Given the description of an element on the screen output the (x, y) to click on. 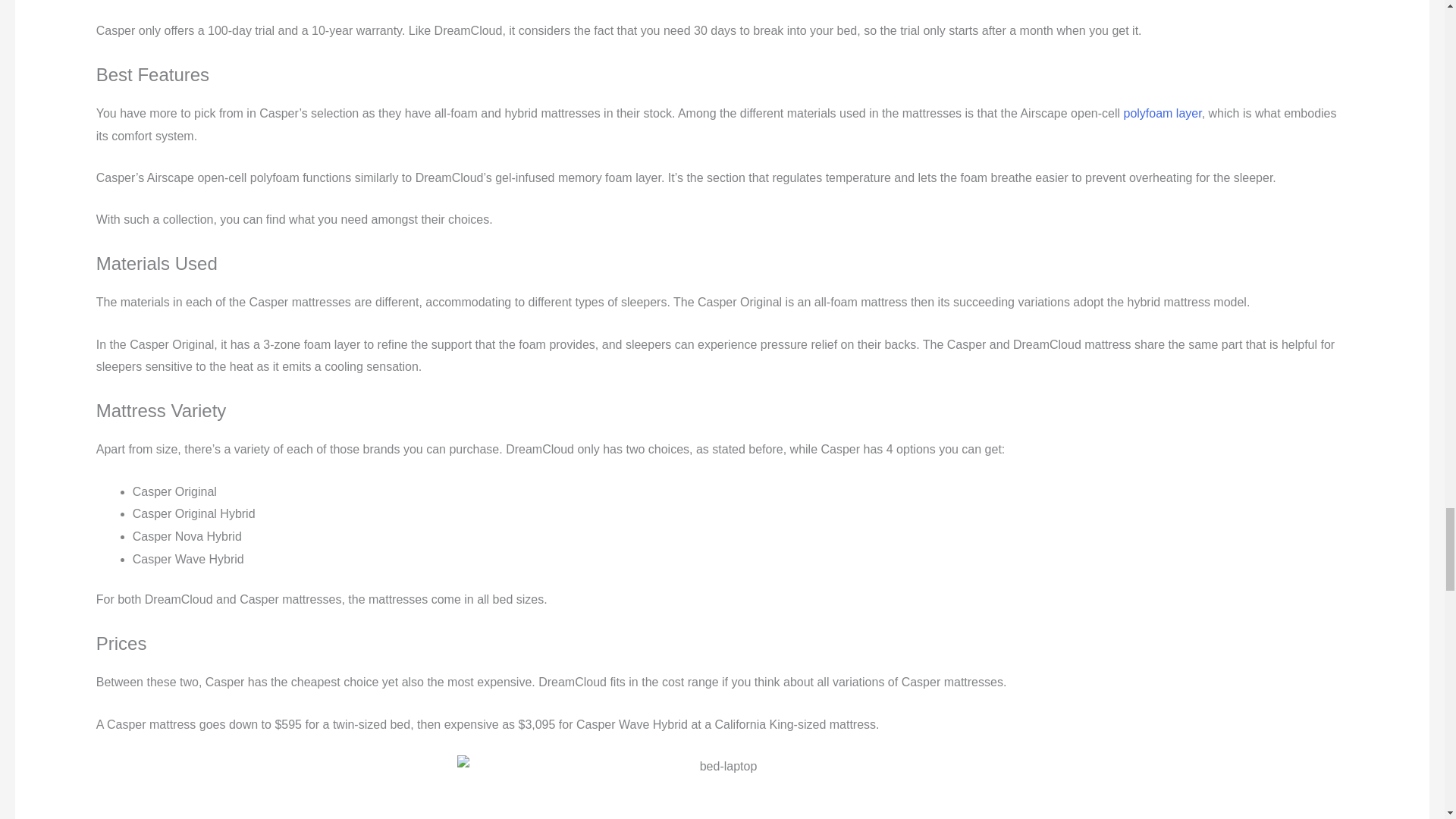
polyfoam layer (1161, 113)
